Given the description of an element on the screen output the (x, y) to click on. 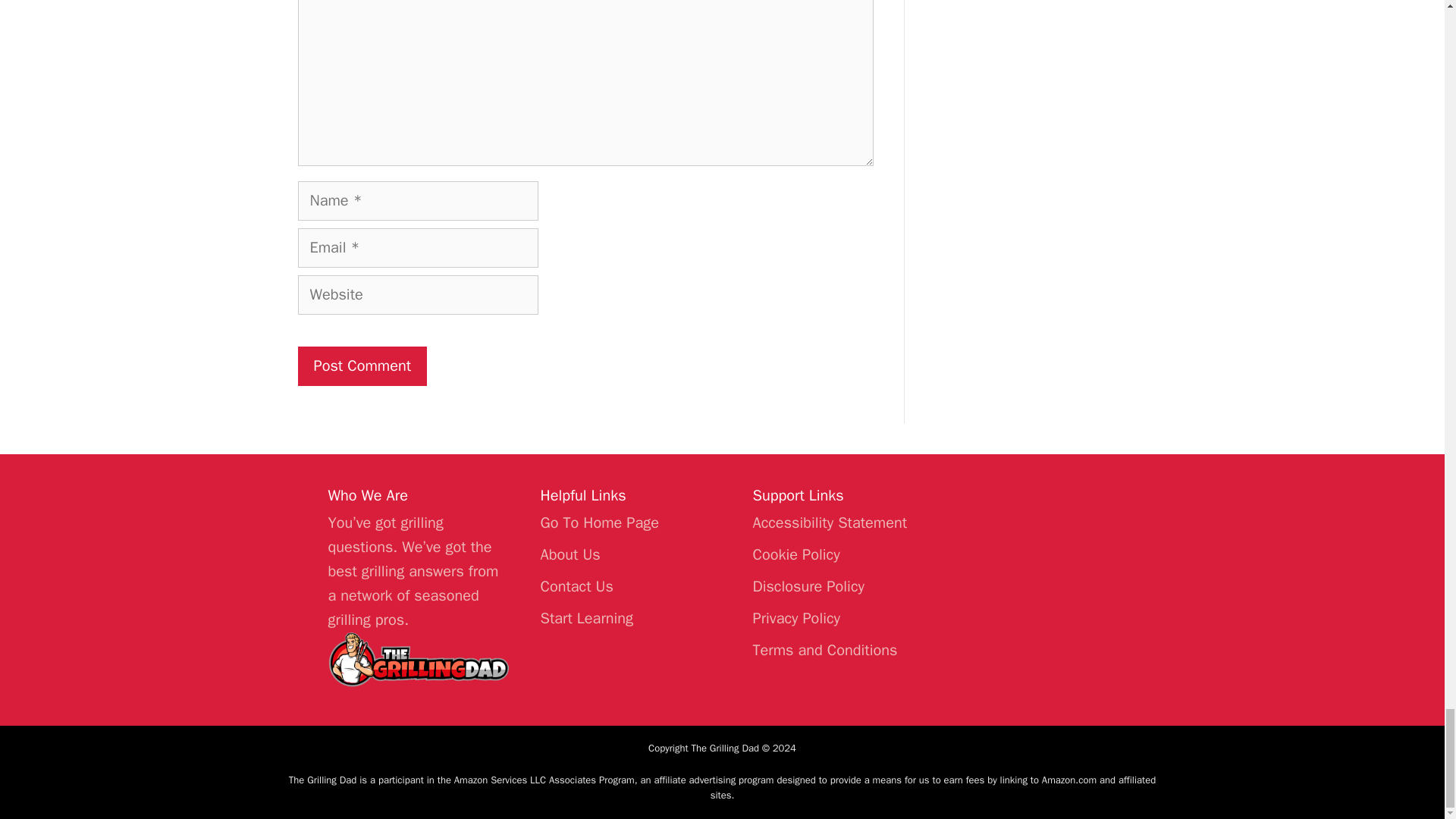
Post Comment (361, 365)
